Given the description of an element on the screen output the (x, y) to click on. 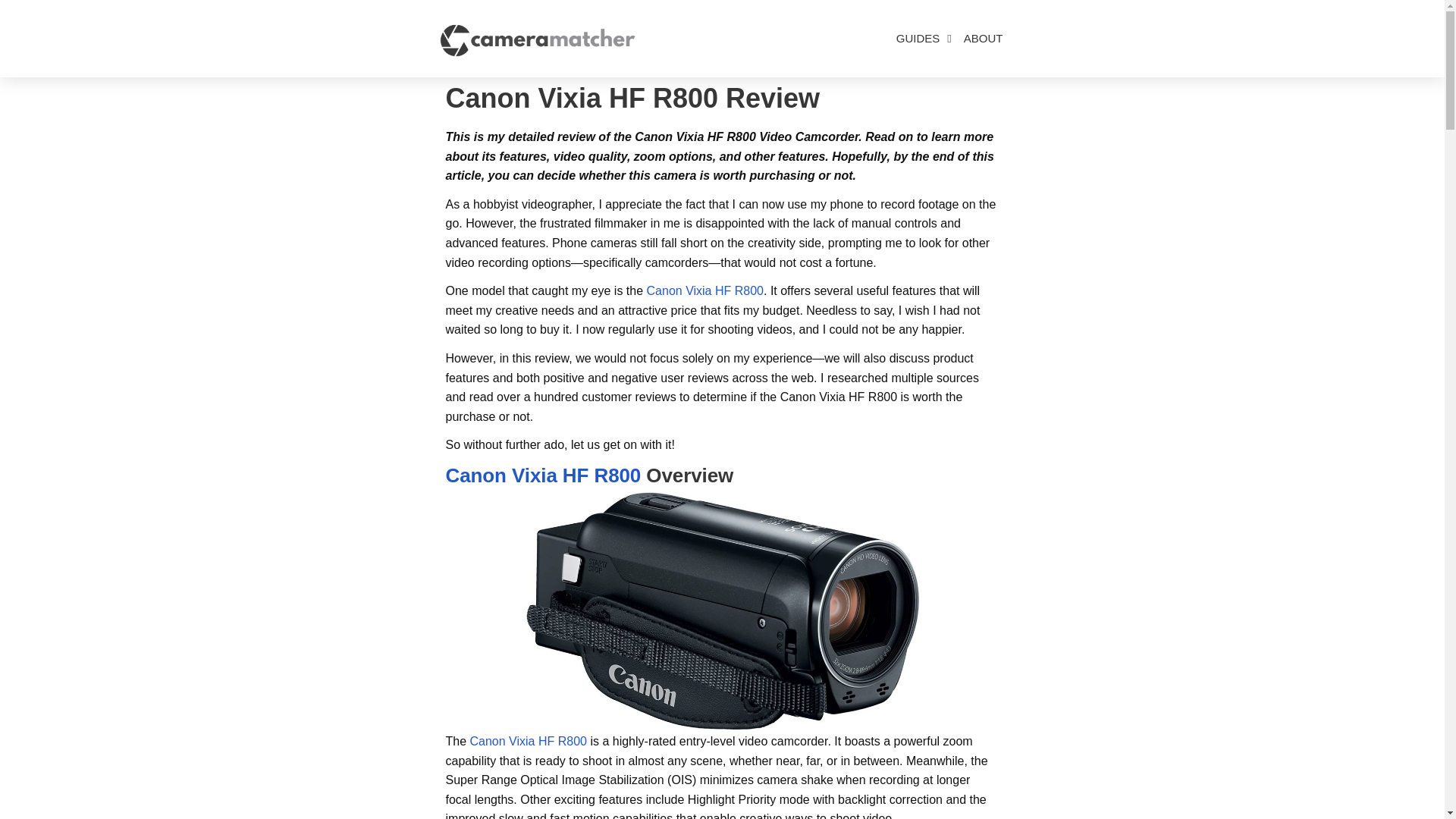
Canon Vixia HF R800 (528, 740)
GUIDES (923, 38)
Canon Vixia HF R800 (543, 475)
Canon Vixia HF R800 (722, 611)
Canon Vixia HF R800 (704, 290)
